Given the description of an element on the screen output the (x, y) to click on. 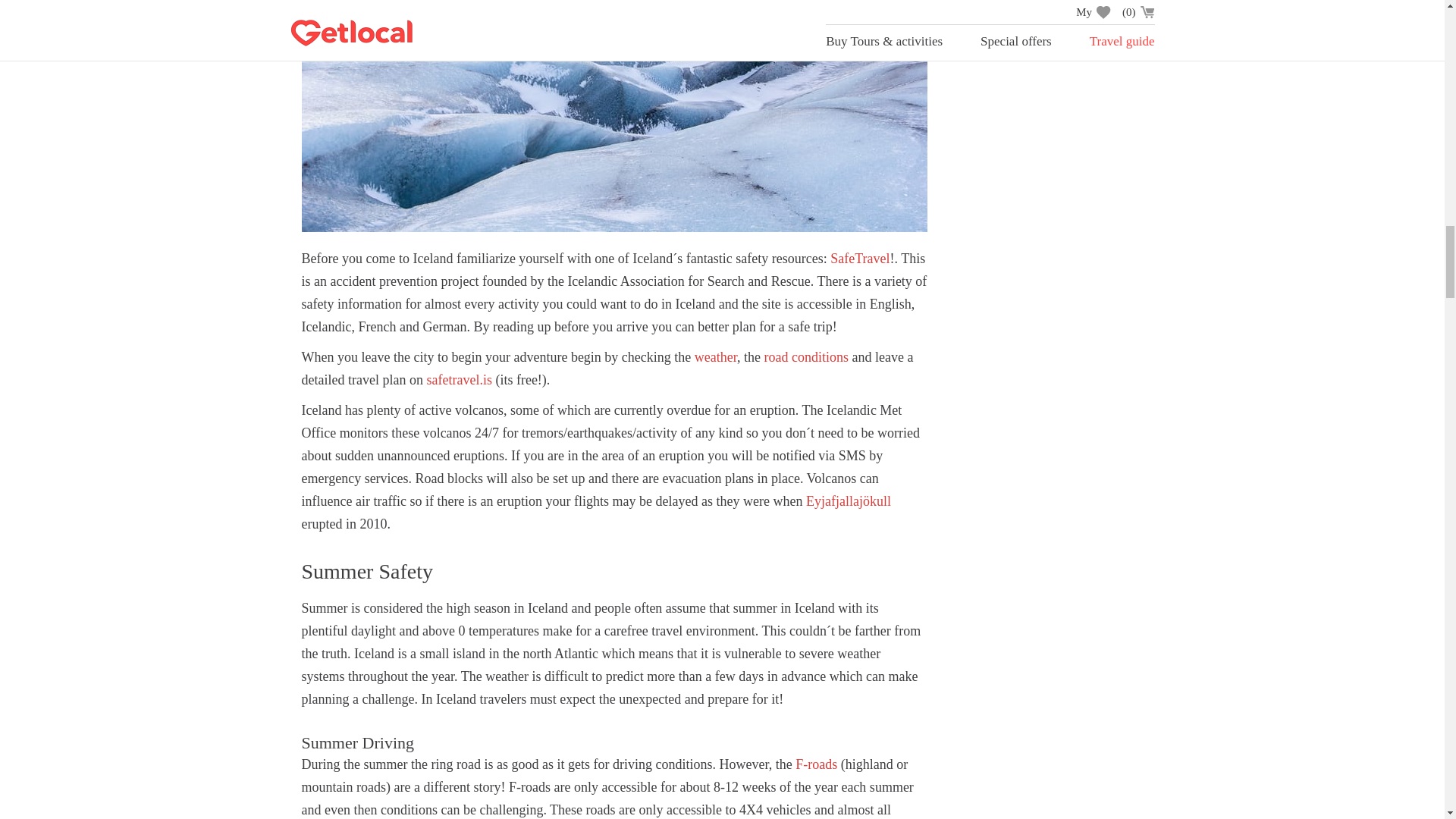
weather (715, 356)
safetravel.is (459, 379)
F-roads (815, 764)
road conditions (806, 356)
SafeTravel (859, 258)
Load More Advice (1045, 36)
